Given the description of an element on the screen output the (x, y) to click on. 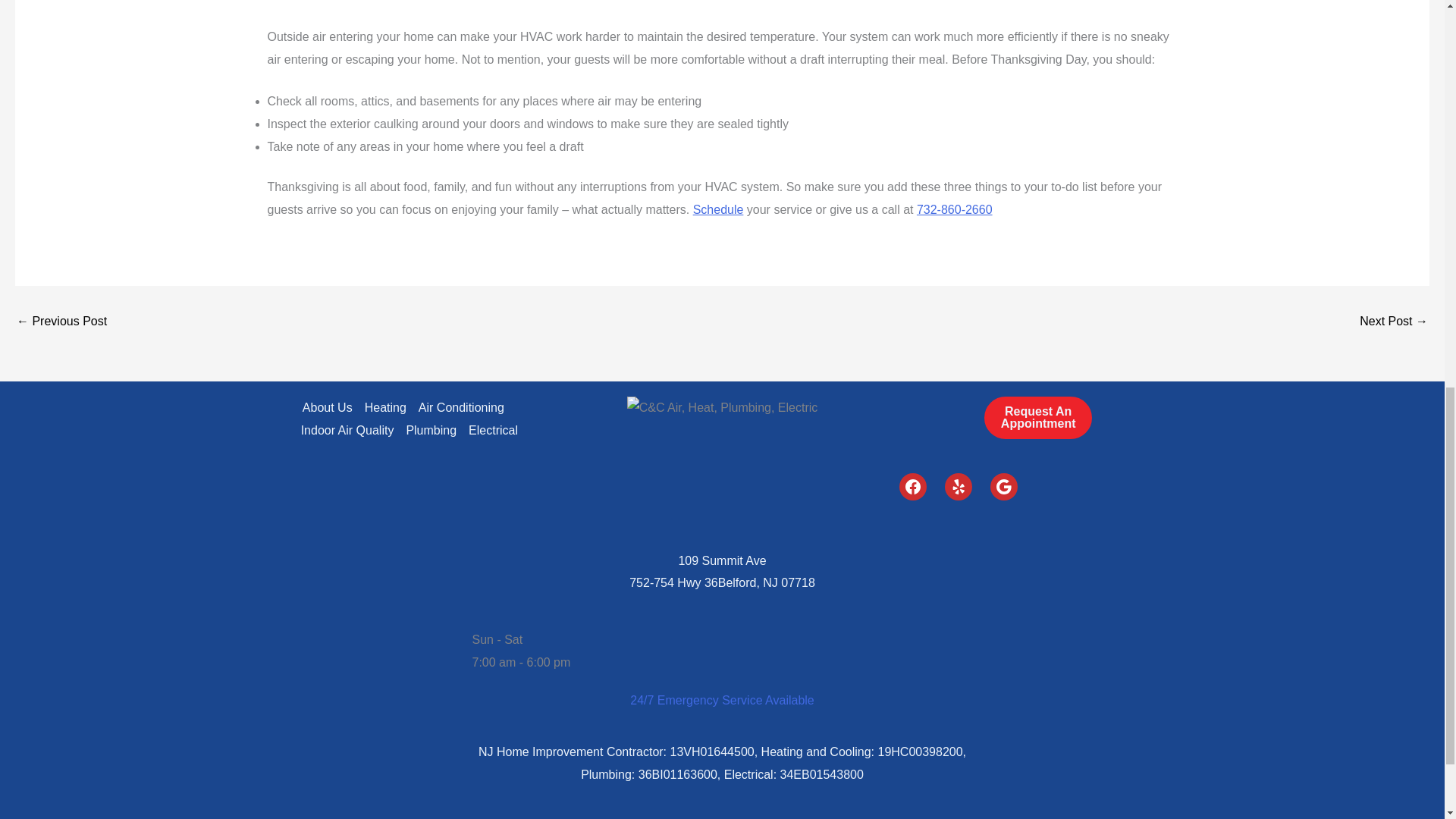
How Safe Is New Jersey Water? (1393, 321)
